Given the description of an element on the screen output the (x, y) to click on. 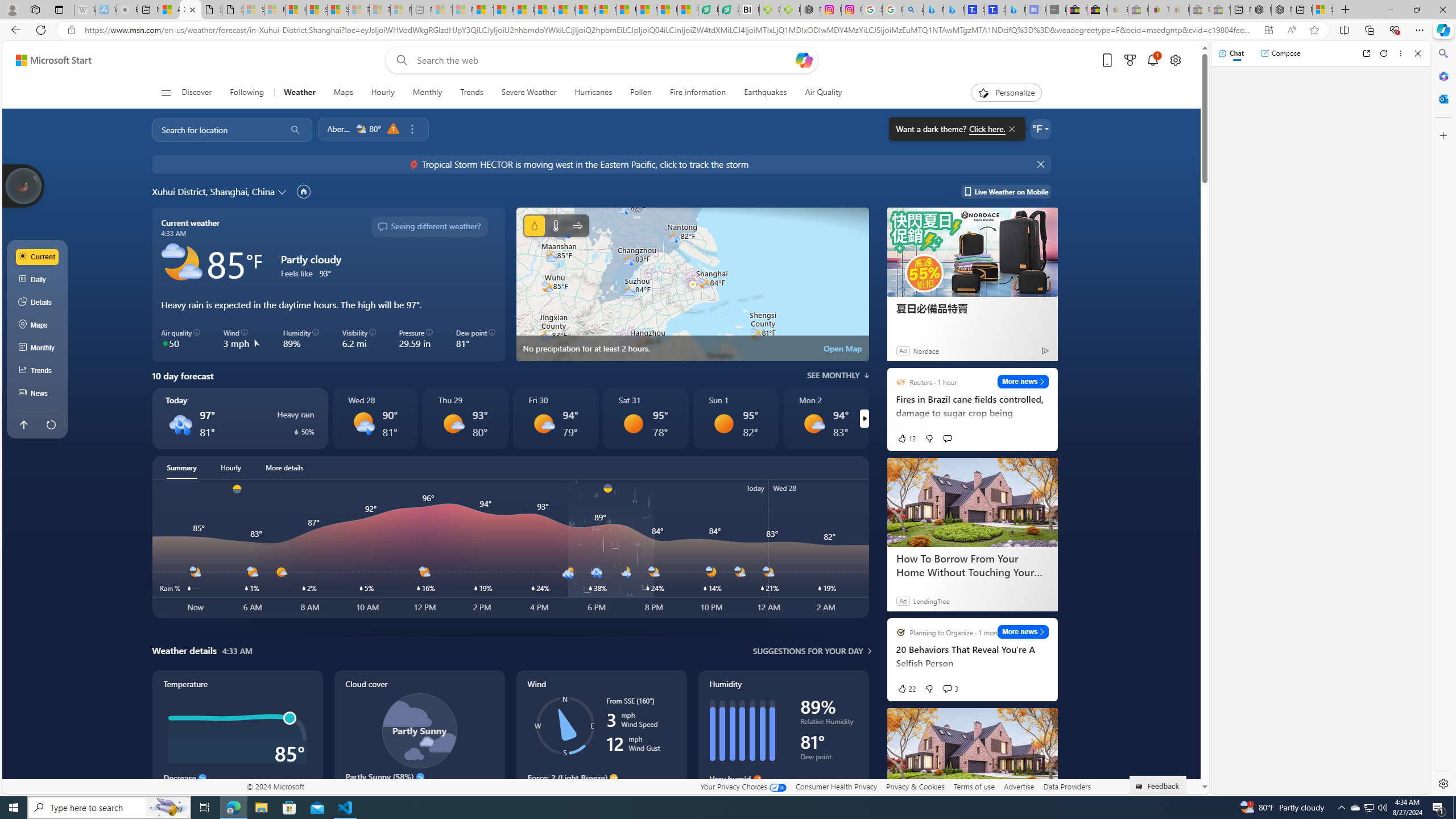
Wikipedia - Sleeping (84, 9)
Compose (1280, 52)
Remove location (411, 128)
Weather settings Want a dark theme?Click here. (1040, 128)
Outlook (1442, 98)
LendingTree - Compare Lenders (728, 9)
Nvidia va a poner a prueba la paciencia de los inversores (748, 9)
Microsoft Bing Travel - Flights from Hong Kong to Bangkok (933, 9)
